Given the description of an element on the screen output the (x, y) to click on. 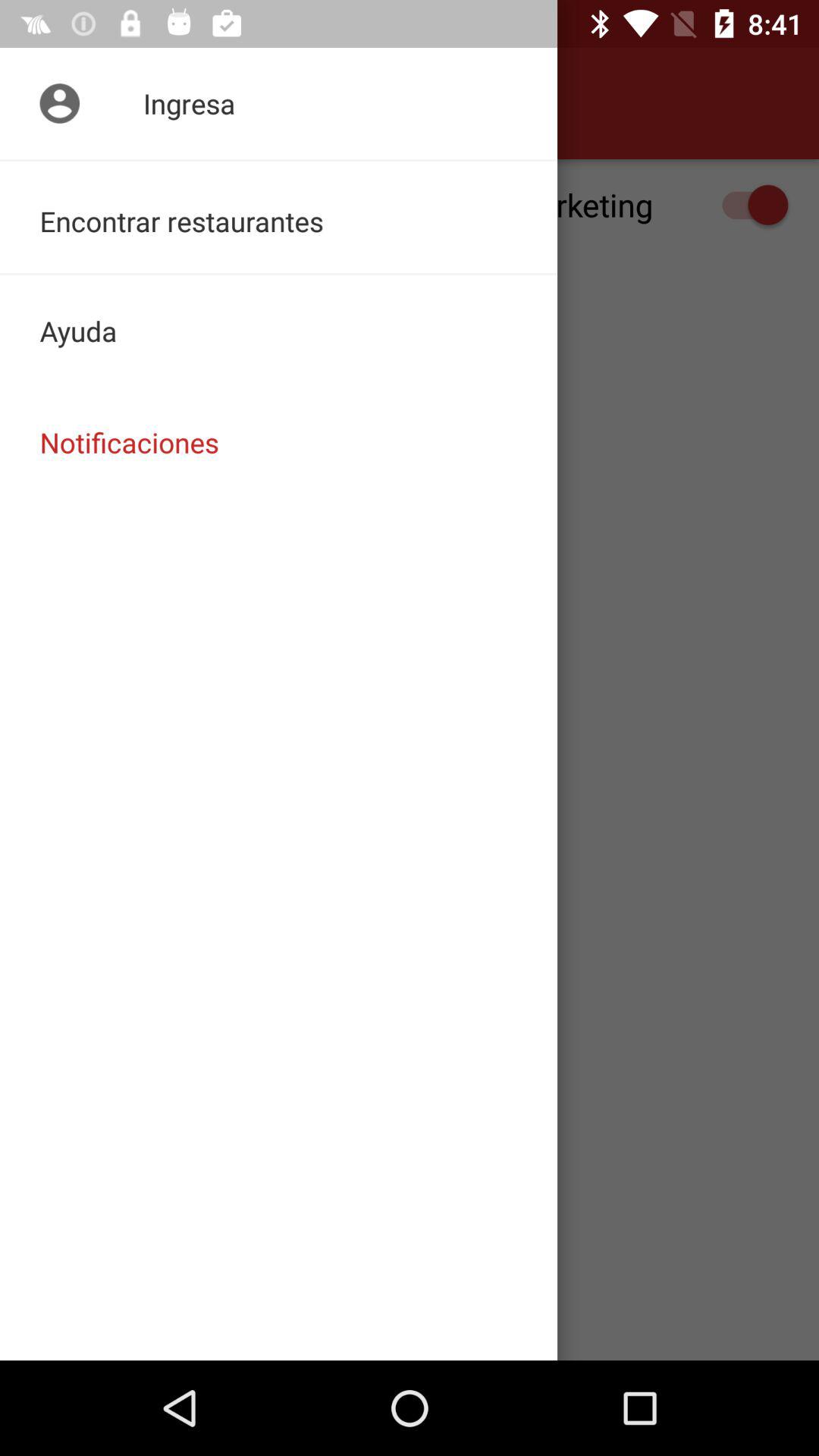
turn on ayuda (278, 330)
